Given the description of an element on the screen output the (x, y) to click on. 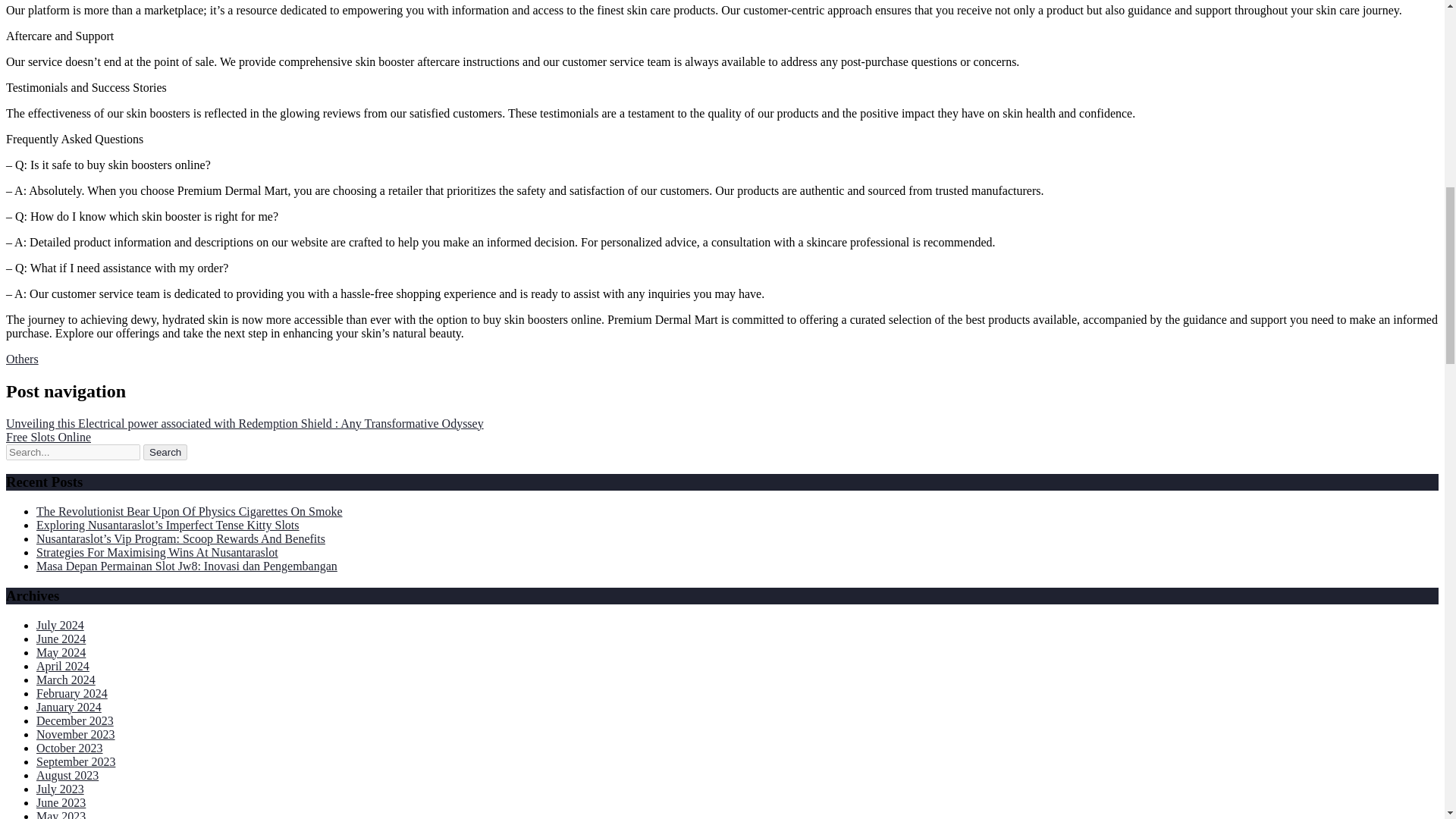
March 2024 (66, 679)
Strategies For Maximising Wins At Nusantaraslot (157, 552)
July 2024 (60, 625)
Search (164, 452)
February 2024 (71, 693)
October 2023 (69, 748)
January 2024 (68, 707)
Search (164, 452)
June 2024 (60, 638)
November 2023 (75, 734)
May 2024 (60, 652)
The Revolutionist Bear Upon Of Physics Cigarettes On Smoke (189, 511)
Masa Depan Permainan Slot Jw8: Inovasi dan Pengembangan (186, 565)
Search (164, 452)
